Given the description of an element on the screen output the (x, y) to click on. 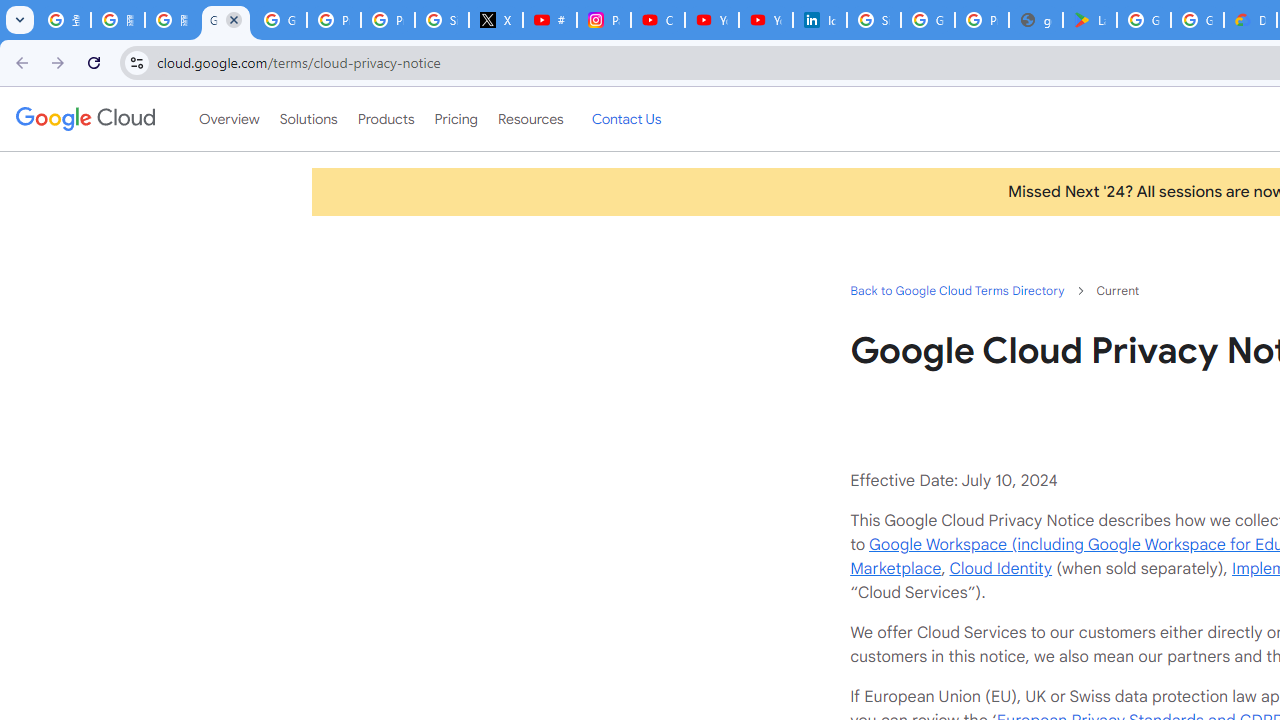
Back to Google Cloud Terms Directory (956, 290)
Last Shelter: Survival - Apps on Google Play (1089, 20)
google_privacy_policy_en.pdf (1035, 20)
Solutions (308, 119)
Google Cloud (84, 118)
